Given the description of an element on the screen output the (x, y) to click on. 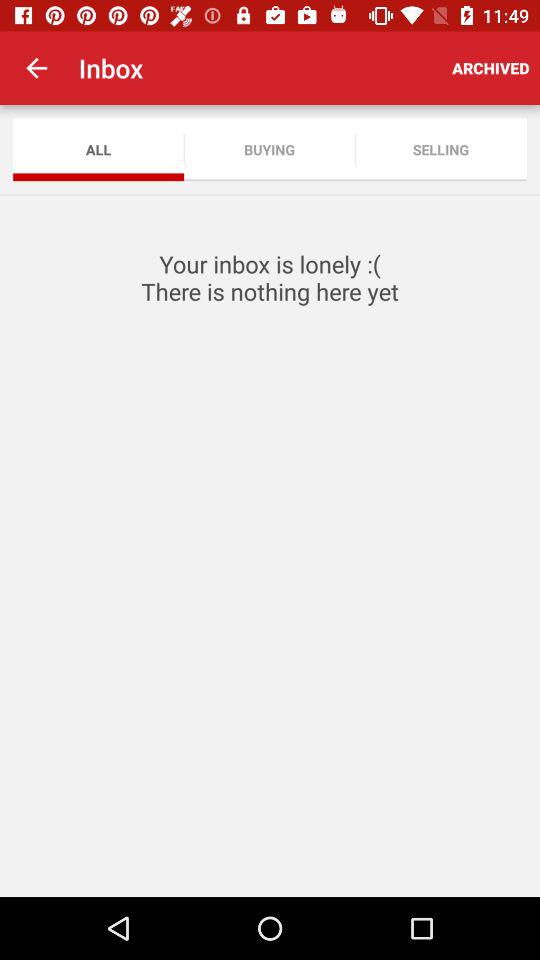
turn on the item next to inbox icon (490, 67)
